Given the description of an element on the screen output the (x, y) to click on. 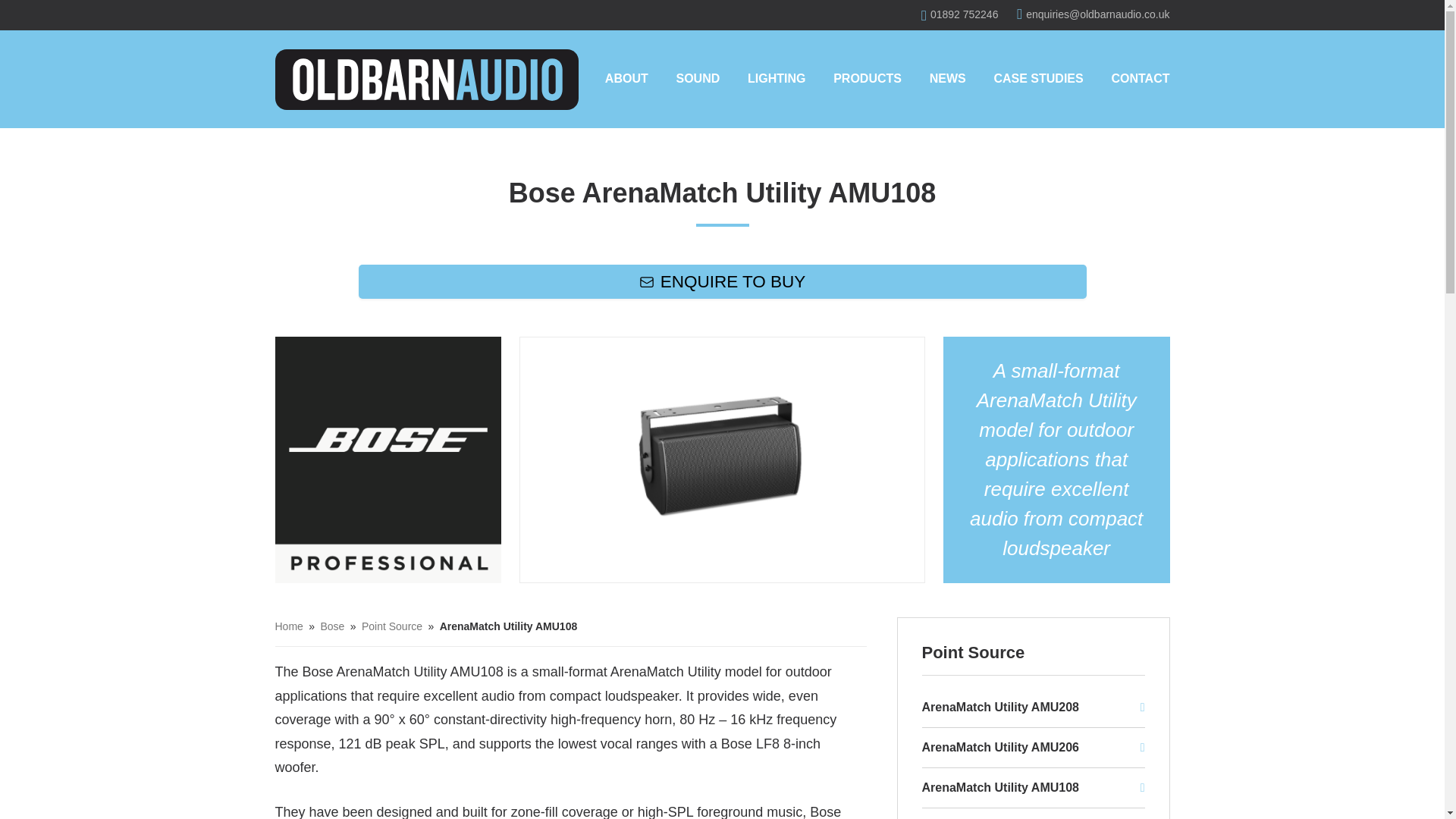
SOUND (697, 79)
ABOUT (626, 79)
LIGHTING (776, 79)
PRODUCTS (866, 79)
01892 752246 (959, 14)
